Given the description of an element on the screen output the (x, y) to click on. 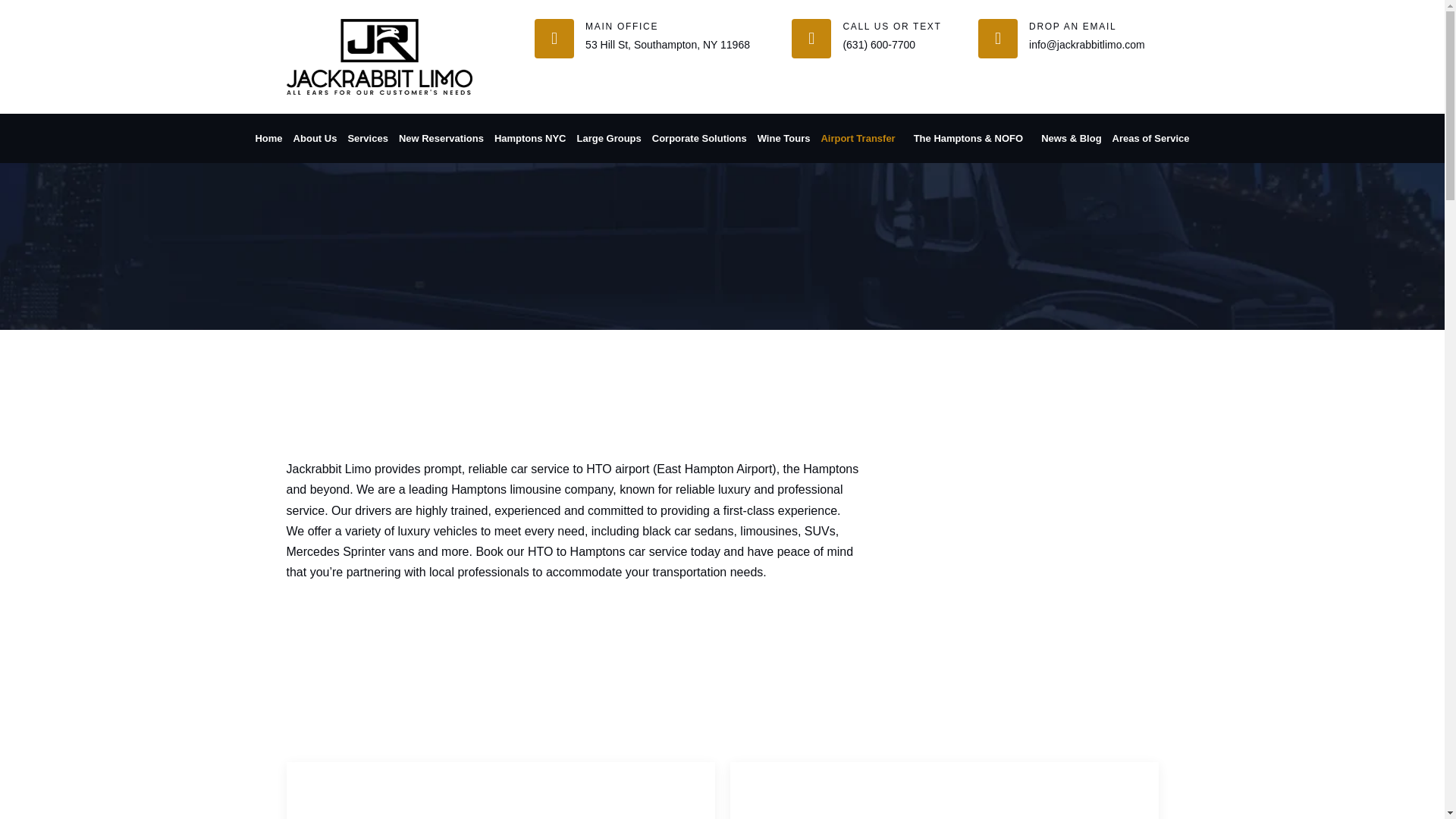
Wine Tours (783, 138)
Hamptons NYC (530, 138)
MAIN OFFICE (621, 26)
DROP AN EMAIL (1072, 26)
Services (368, 138)
About Us (315, 138)
Corporate Solutions (699, 138)
Airport Transfer (861, 138)
CALL US OR TEXT (891, 26)
New Reservations (440, 138)
Large Groups (609, 138)
